Given the description of an element on the screen output the (x, y) to click on. 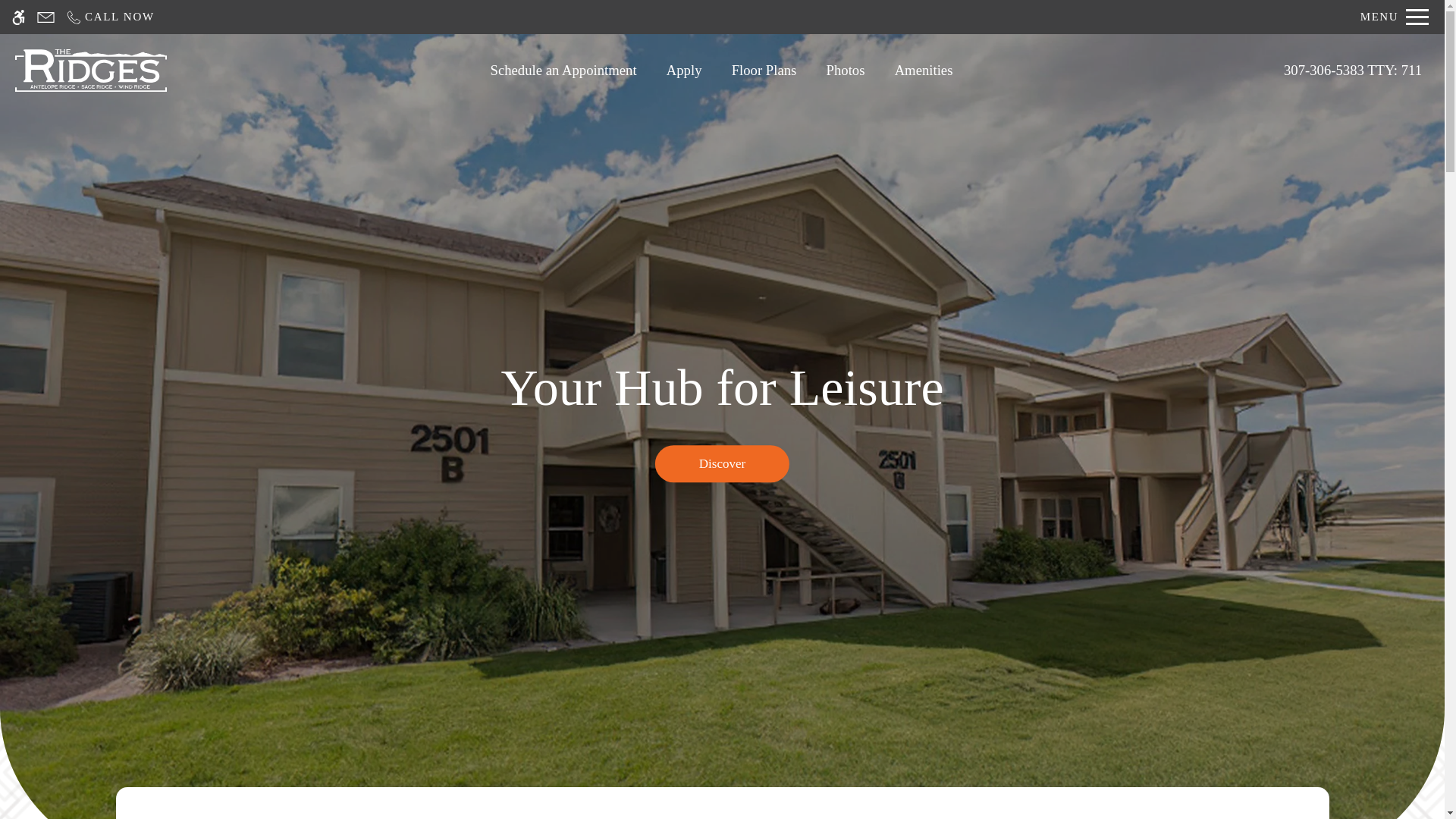
307-306-5383 TTY: 711 (1353, 69)
MENU (1394, 17)
Floor Plans (764, 70)
Photos (845, 70)
Accessible screen reader (18, 17)
Discover (722, 464)
Apply (684, 70)
Amenities (923, 70)
Call now (109, 17)
Contact page (45, 17)
